Given the description of an element on the screen output the (x, y) to click on. 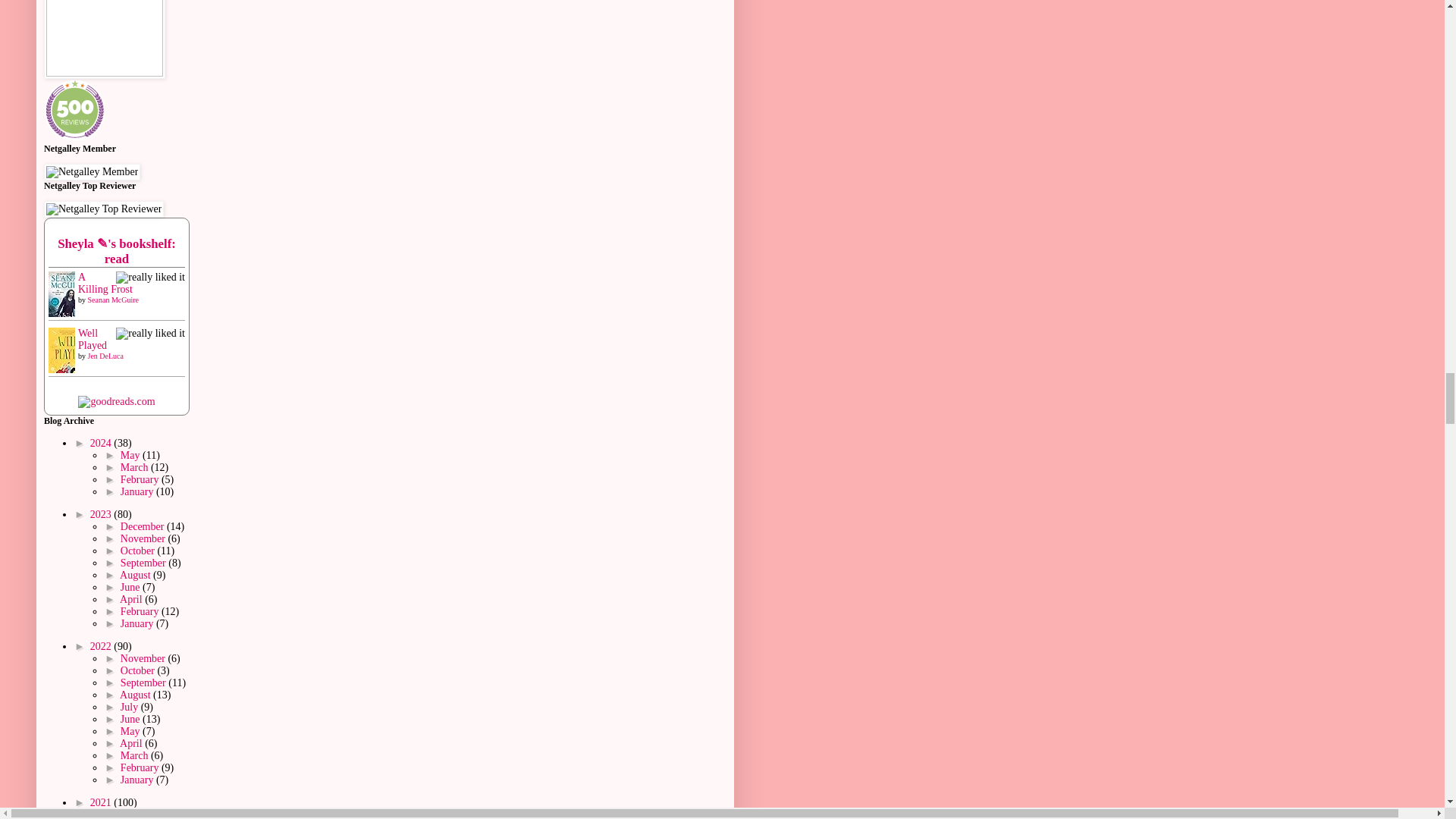
500 Book Reviews (73, 109)
